Given the description of an element on the screen output the (x, y) to click on. 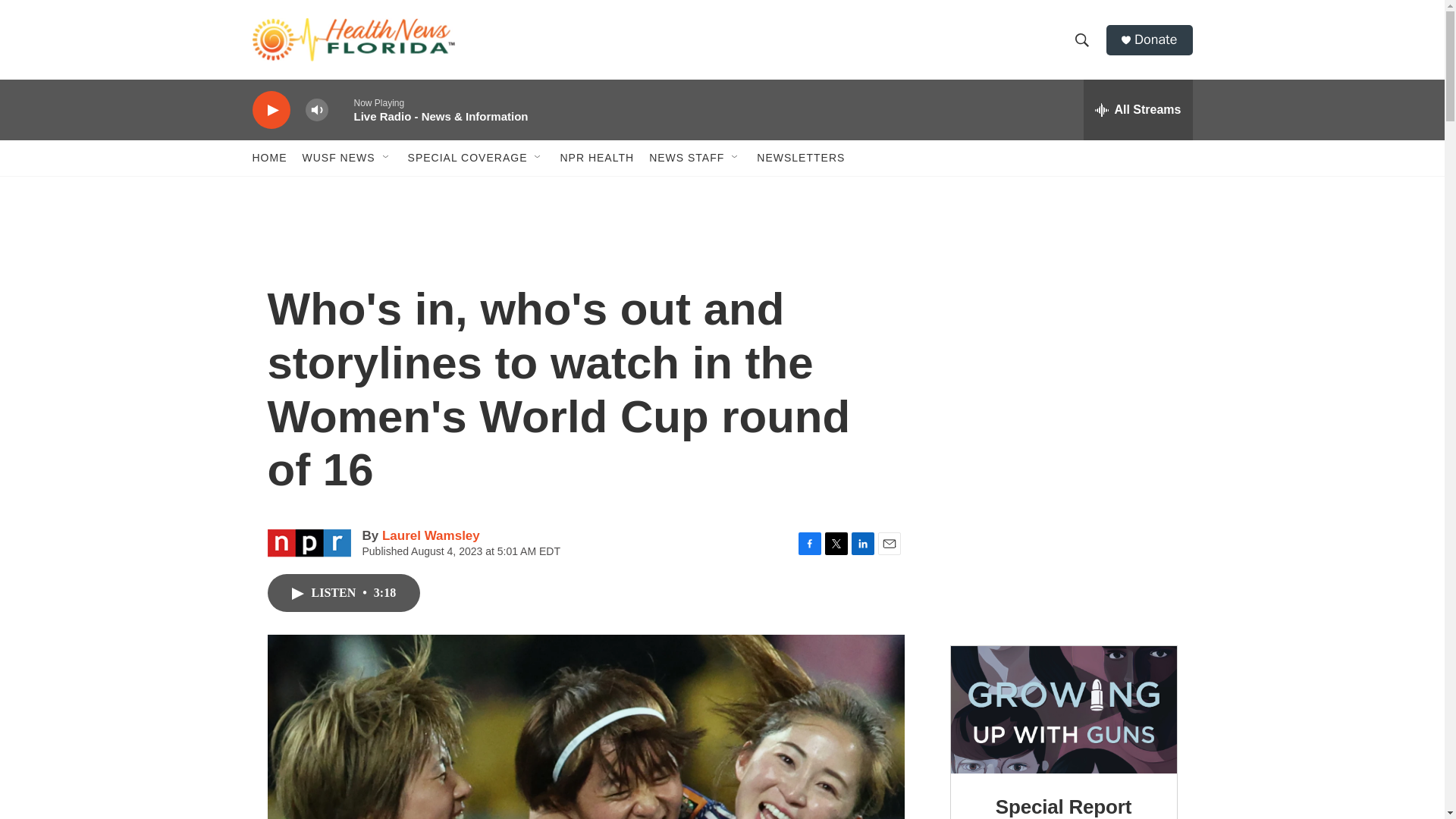
3rd party ad content (1062, 331)
3rd party ad content (1063, 536)
